Given the description of an element on the screen output the (x, y) to click on. 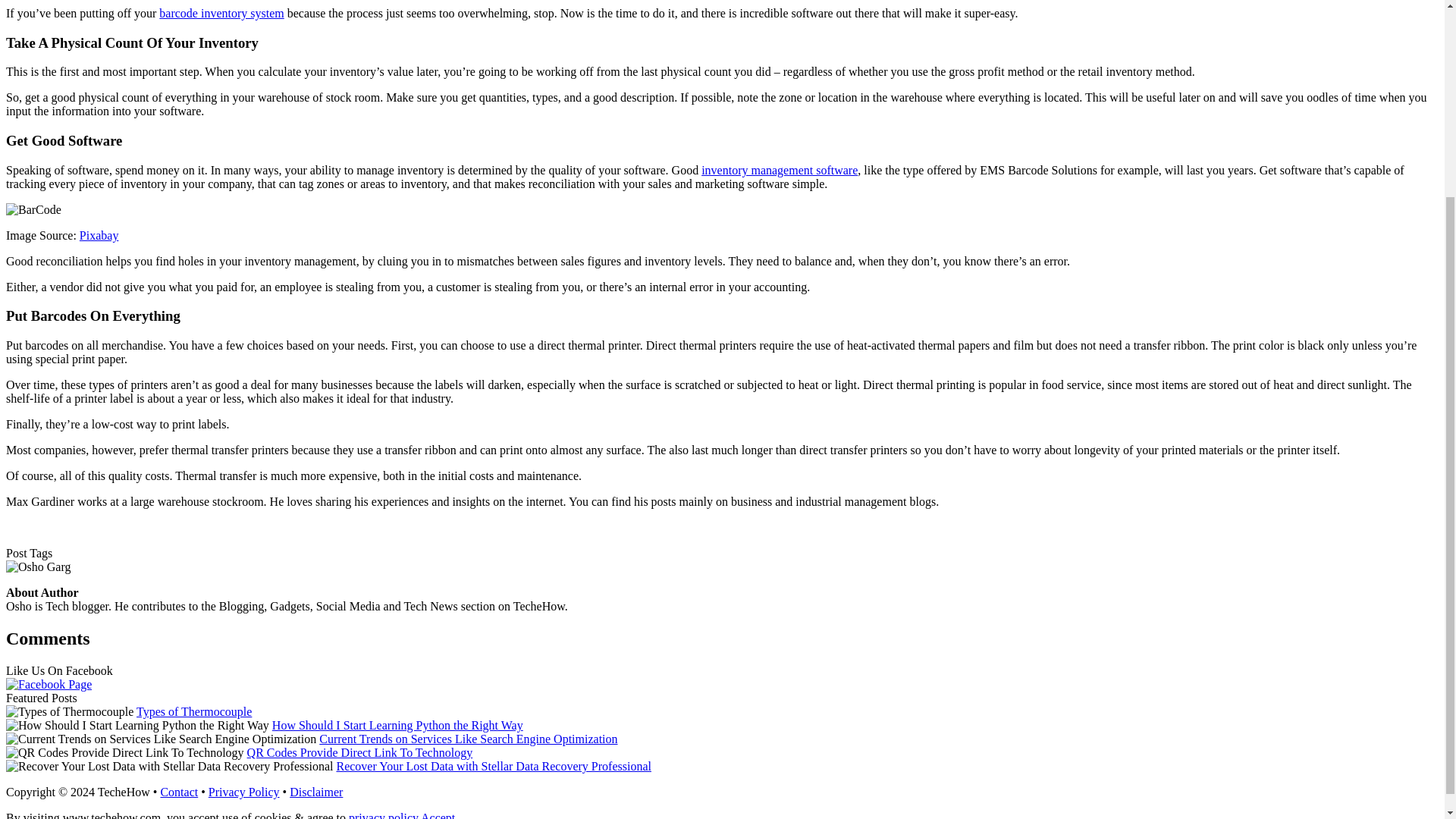
QR Codes Provide Direct Link To Technology (360, 752)
Contact (179, 791)
Privacy Policy (243, 791)
Current Trends on Services Like Search Engine Optimization (467, 738)
How Should I Start Learning Python the Right Way (397, 725)
Disclaimer (315, 791)
Types of Thermocouple (193, 711)
inventory management software (779, 169)
barcode inventory system (220, 12)
Pixabay (99, 235)
